Given the description of an element on the screen output the (x, y) to click on. 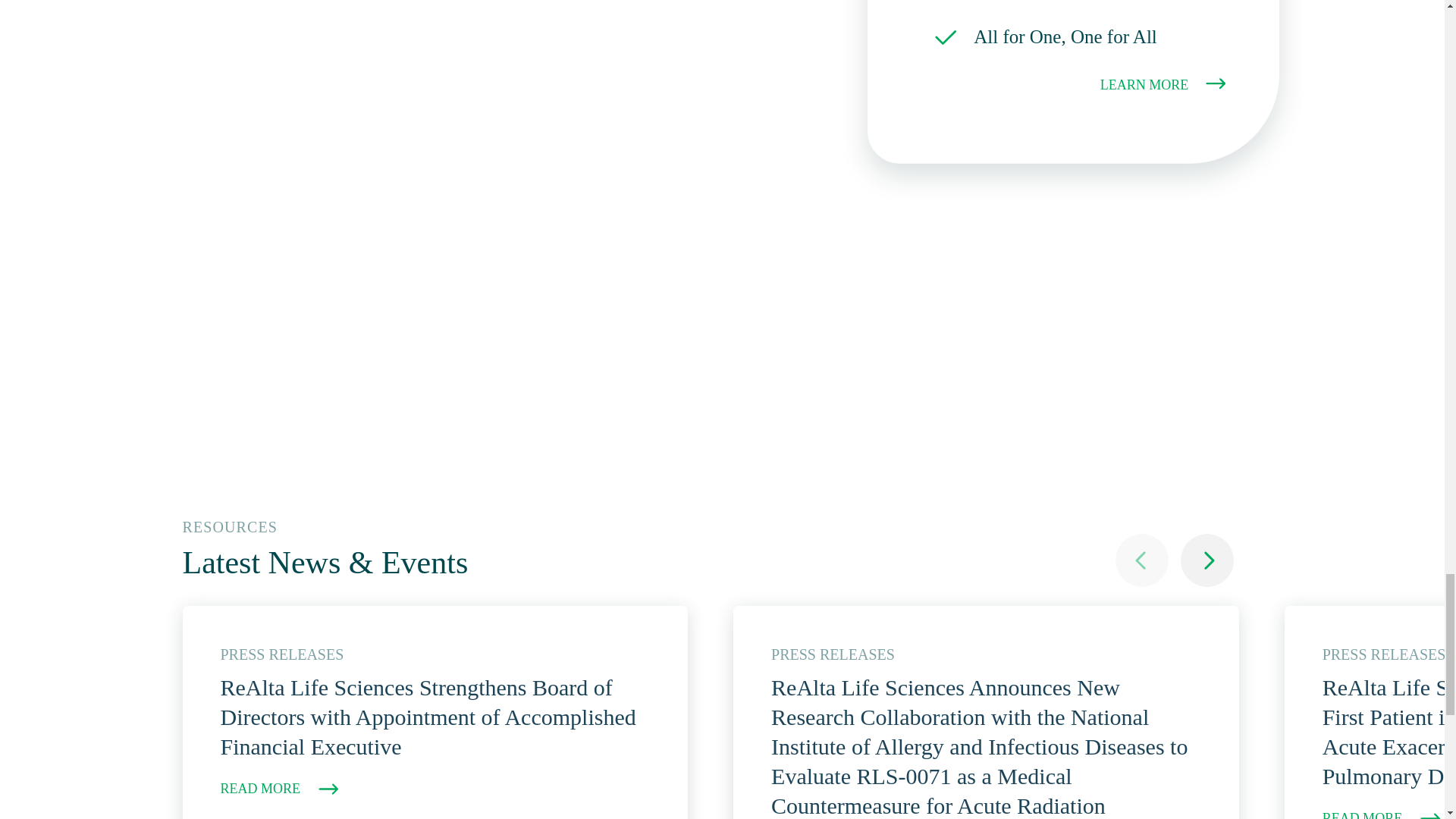
LEARN MORE (1165, 83)
